Given the description of an element on the screen output the (x, y) to click on. 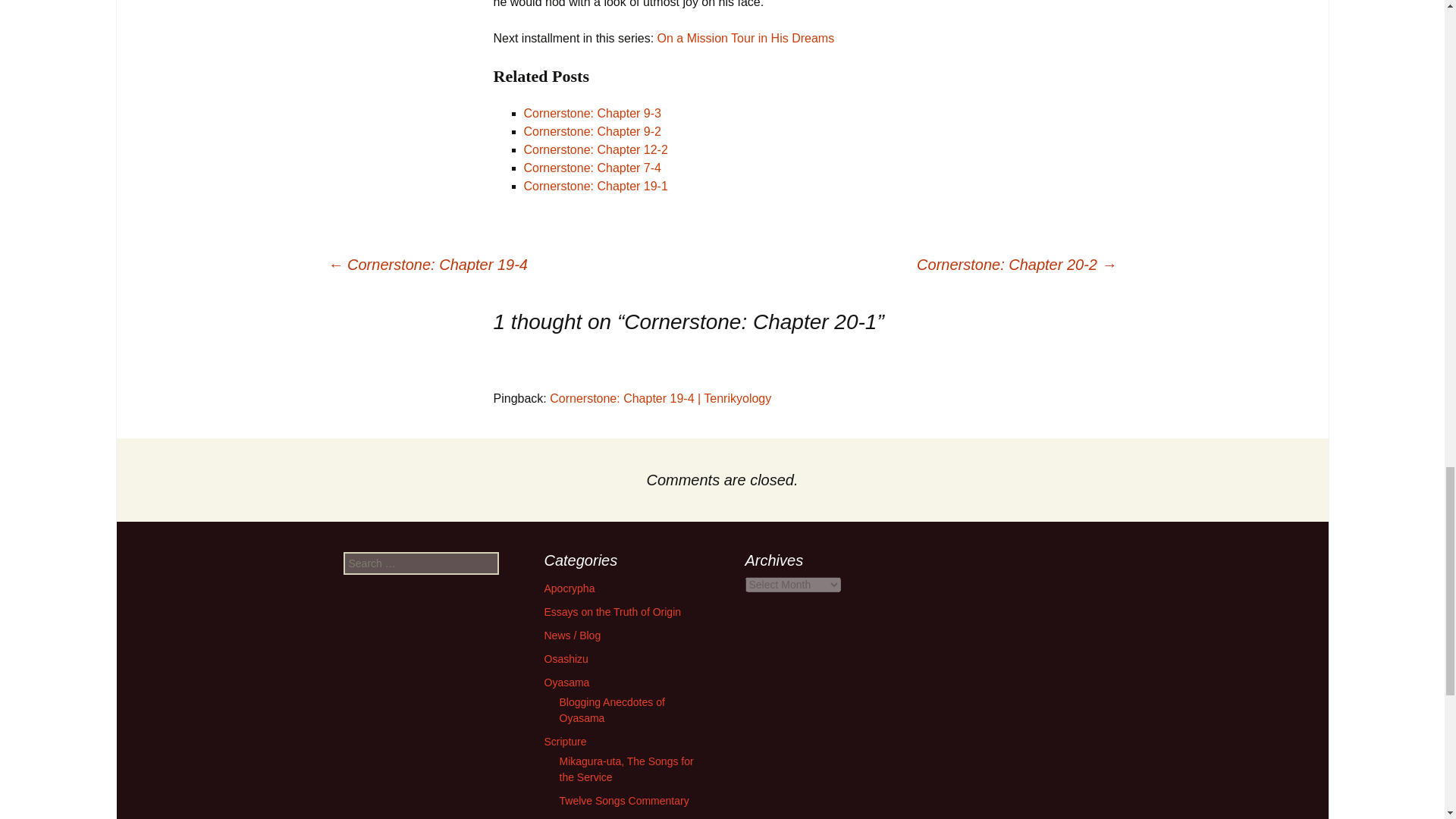
On a Mission Tour in His Dreams (746, 38)
